Given the description of an element on the screen output the (x, y) to click on. 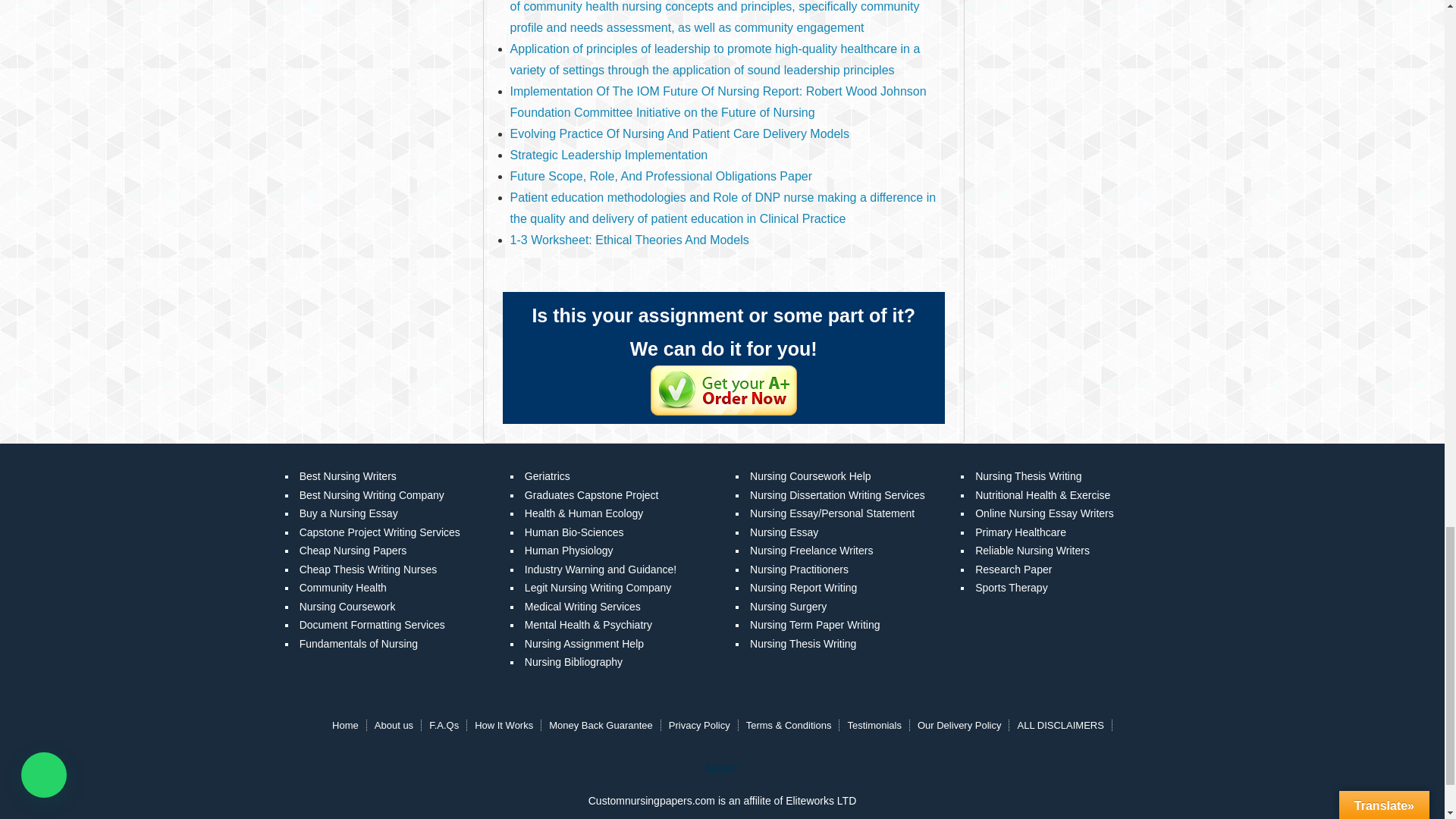
1-3 Worksheet: Ethical Theories And Models (630, 239)
Strategic Leadership Implementation (609, 154)
Strategic Leadership Implementation (609, 154)
Future Scope, Role, And Professional Obligations Paper (661, 175)
Future Scope, Role, And Professional Obligations Paper (661, 175)
